Given the description of an element on the screen output the (x, y) to click on. 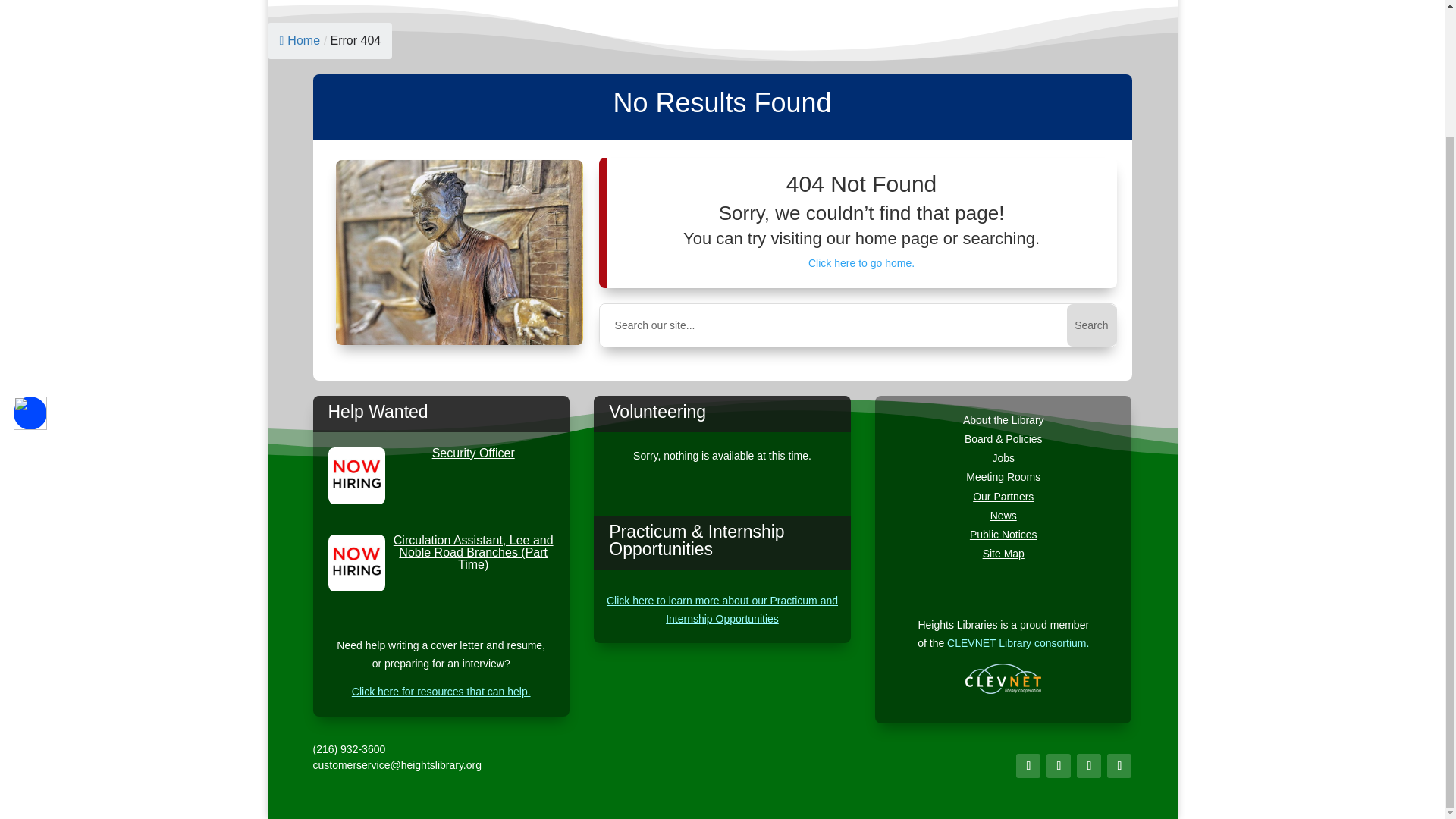
Search (1091, 324)
harvey-shrug (459, 251)
Follow on RSS (1118, 765)
Follow on Facebook (1028, 765)
Search (1091, 324)
Follow on Youtube (1088, 765)
Follow on Instagram (1058, 765)
Accessibility Menu (29, 259)
